Given the description of an element on the screen output the (x, y) to click on. 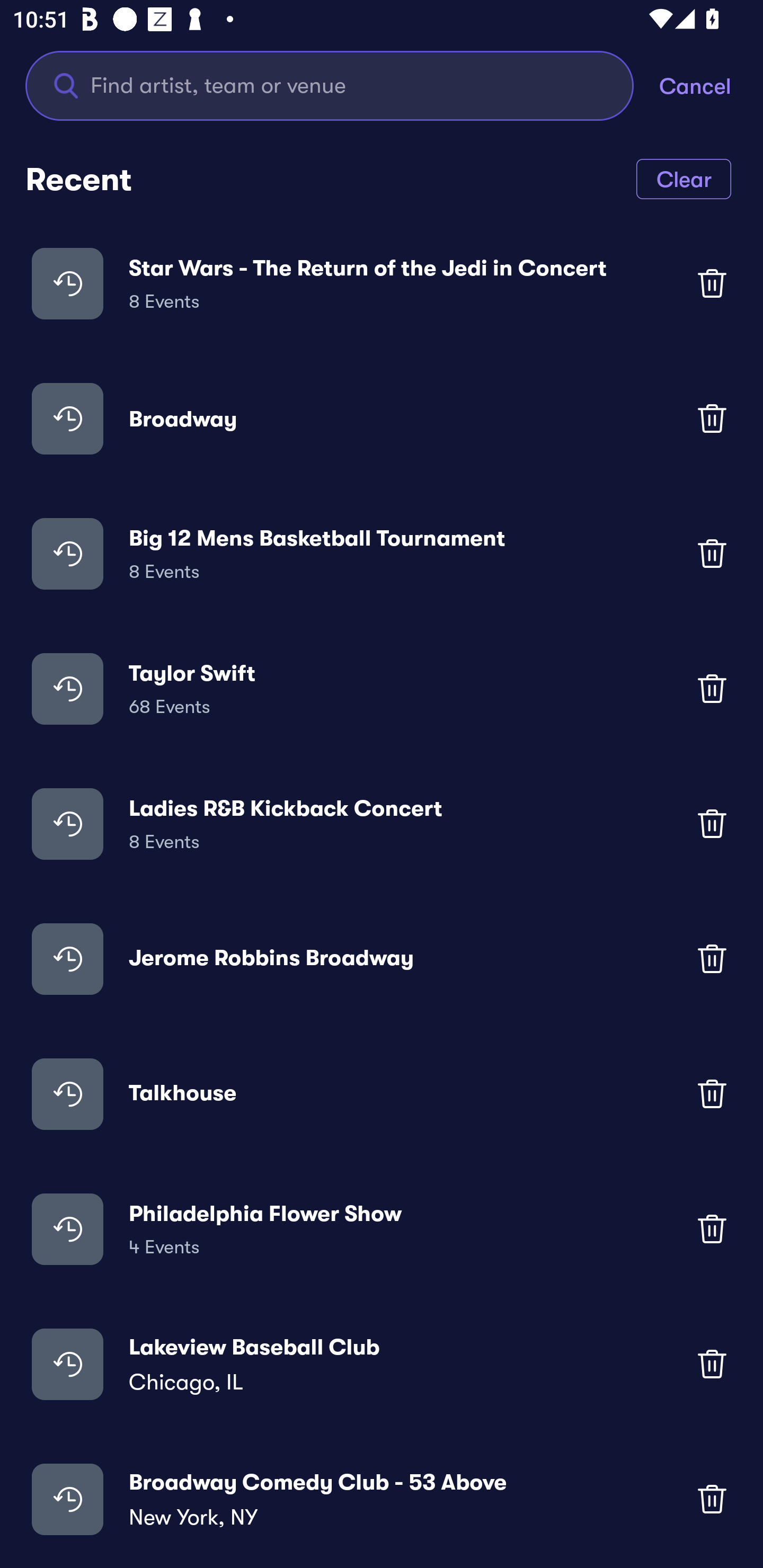
Cancel (711, 85)
Find artist, team or venue Find (329, 85)
Find artist, team or venue Find (341, 85)
Clear (683, 178)
Broadway (381, 417)
Big 12 Mens Basketball Tournament 8 Events (381, 553)
Taylor Swift 68 Events (381, 688)
Ladies R&B Kickback Concert 8 Events (381, 823)
Jerome Robbins Broadway (381, 958)
Talkhouse (381, 1093)
Philadelphia Flower Show 4 Events (381, 1228)
Lakeview Baseball Club Chicago, IL (381, 1364)
Broadway Comedy Club - 53 Above New York, NY (381, 1498)
